Given the description of an element on the screen output the (x, y) to click on. 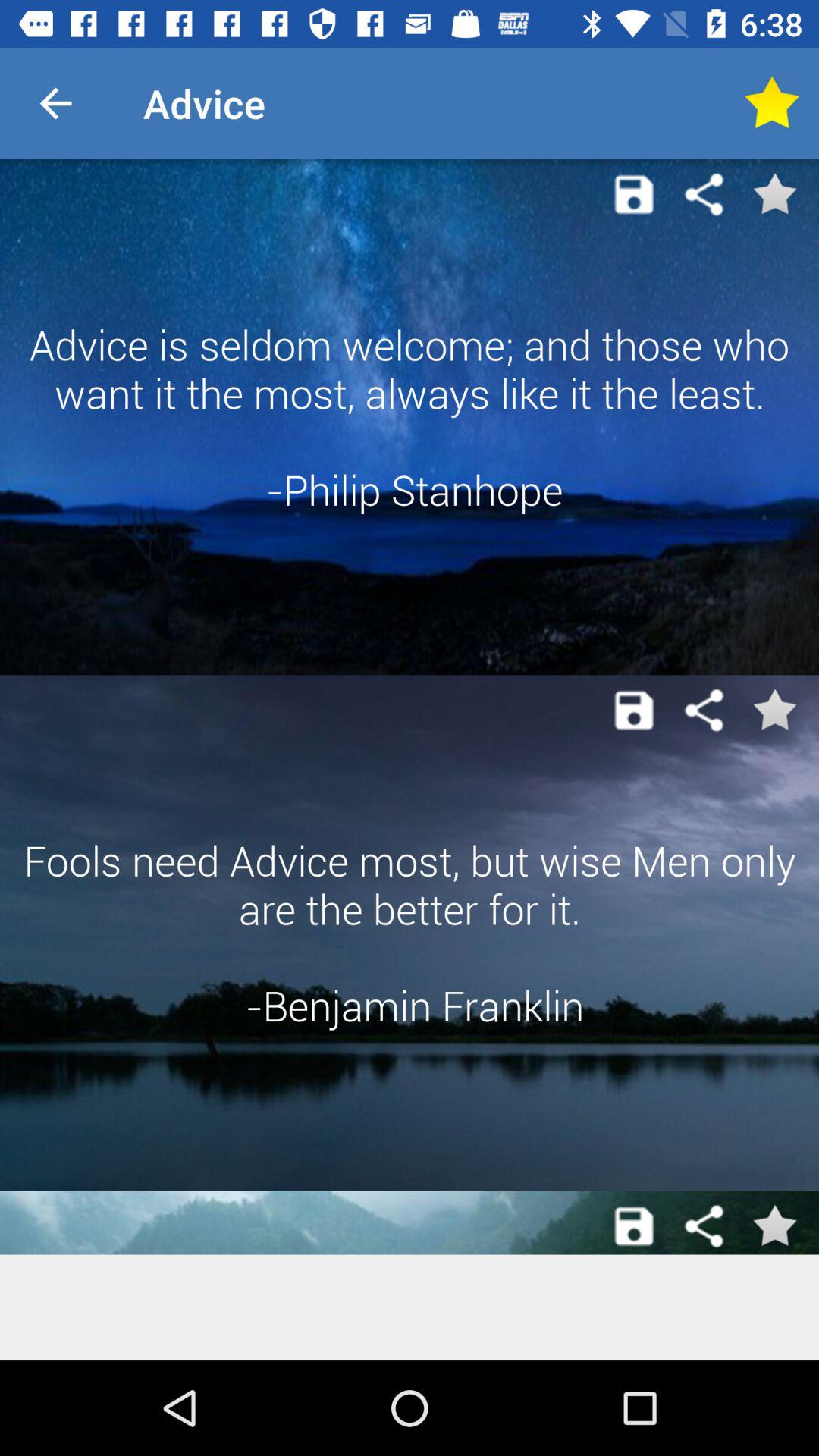
camera (634, 710)
